Given the description of an element on the screen output the (x, y) to click on. 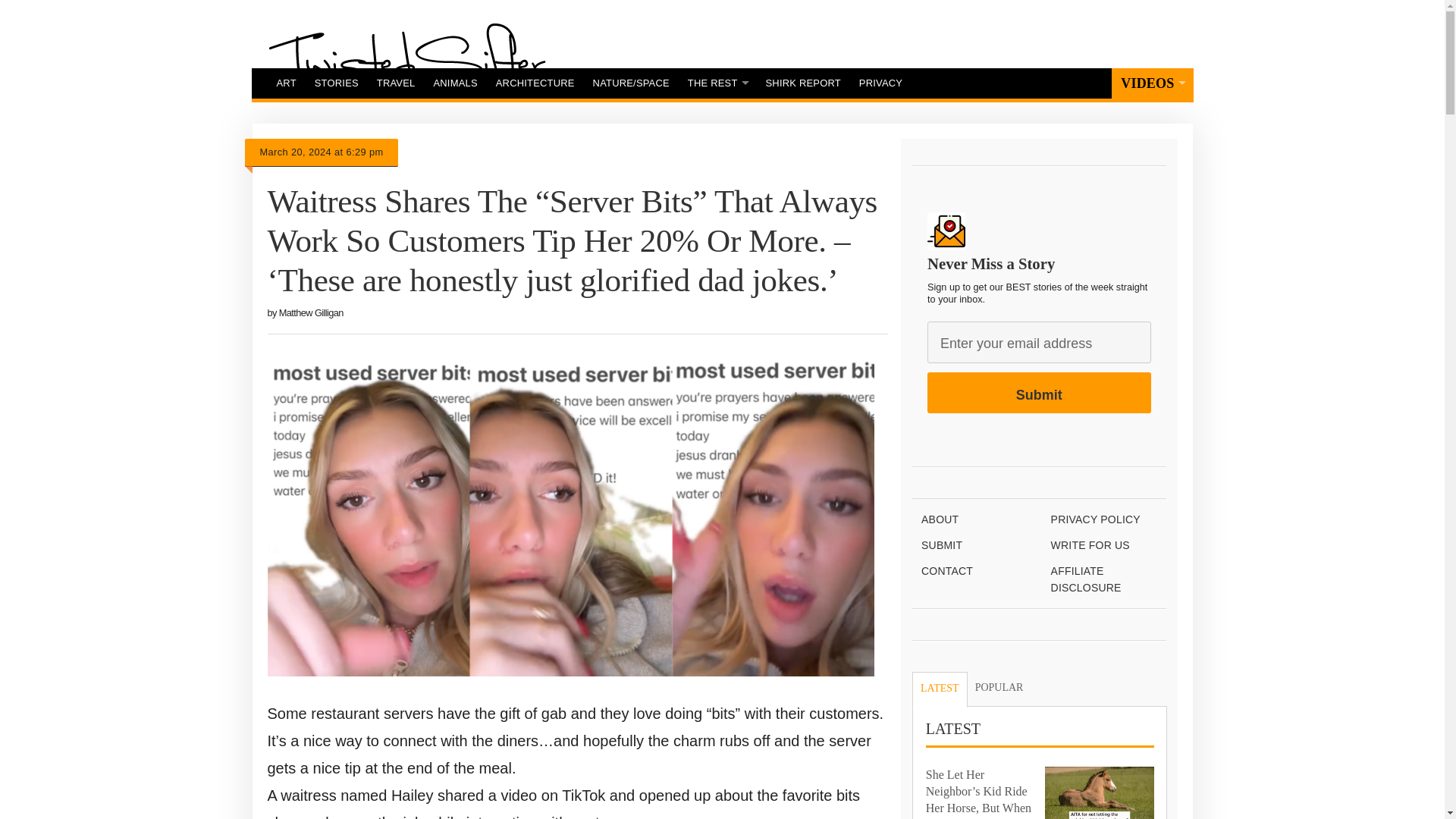
STORIES (336, 82)
PRIVACY (880, 82)
THE REST (717, 82)
ANIMALS (454, 82)
Submit (1038, 392)
Home (406, 59)
ARCHITECTURE (534, 82)
SHIRK REPORT (803, 82)
VIDEOS (1152, 82)
ART (285, 82)
TRAVEL (396, 82)
